Given the description of an element on the screen output the (x, y) to click on. 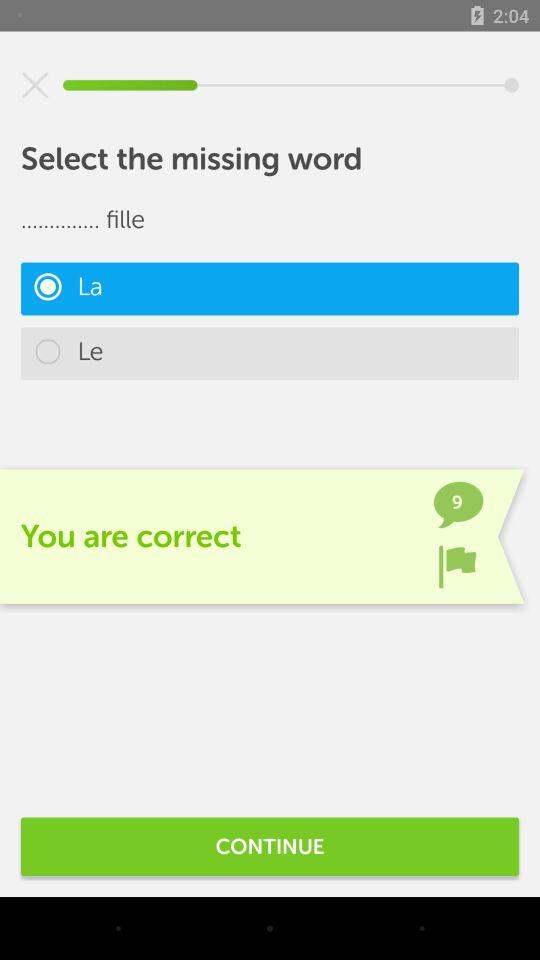
swipe to la icon (270, 288)
